Given the description of an element on the screen output the (x, y) to click on. 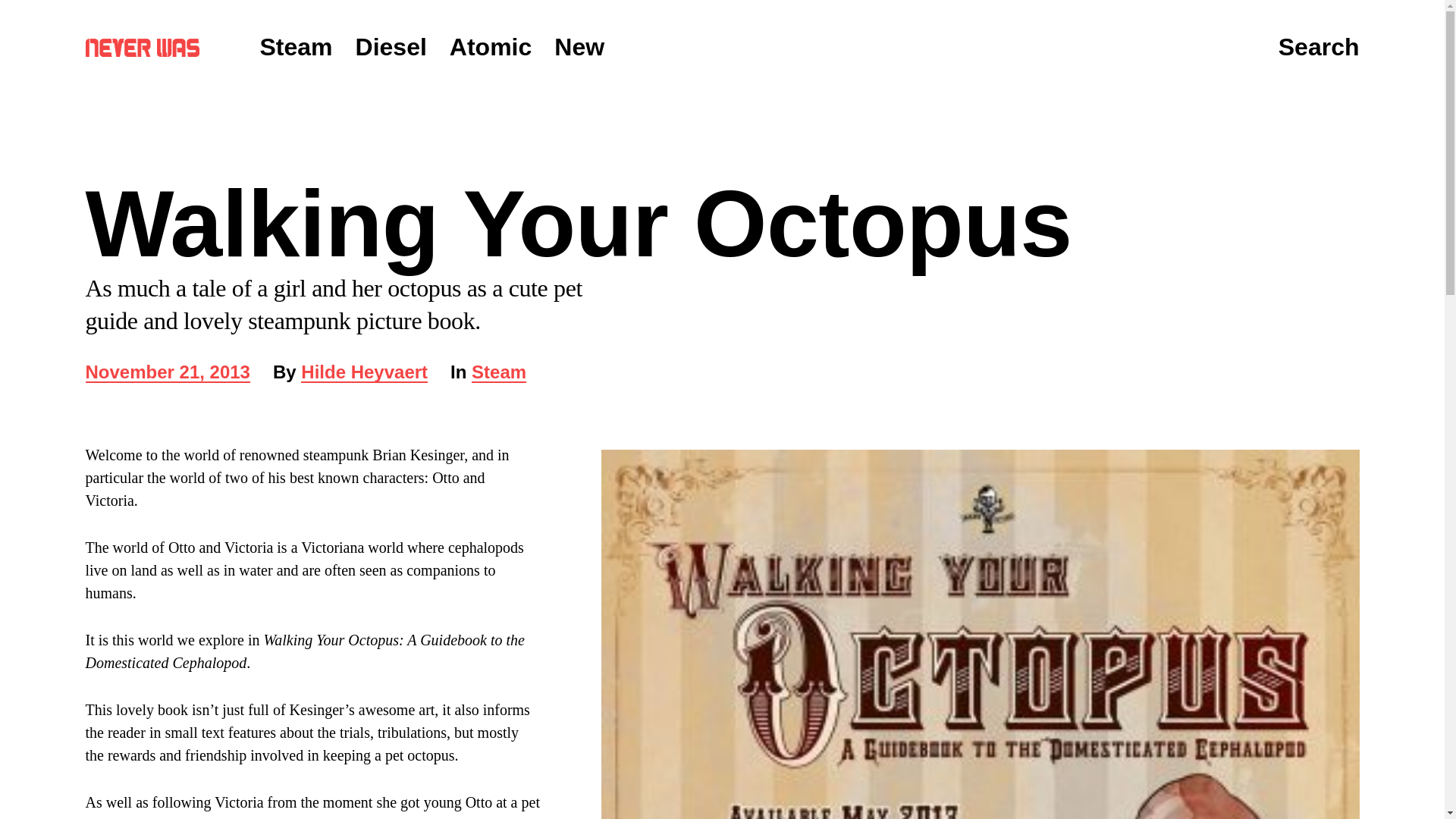
Atomic (166, 373)
Never Was (490, 47)
Steam (141, 47)
New (498, 373)
Steam (579, 47)
Search (295, 47)
Diesel (1318, 47)
Hilde Heyvaert (390, 47)
